Given the description of an element on the screen output the (x, y) to click on. 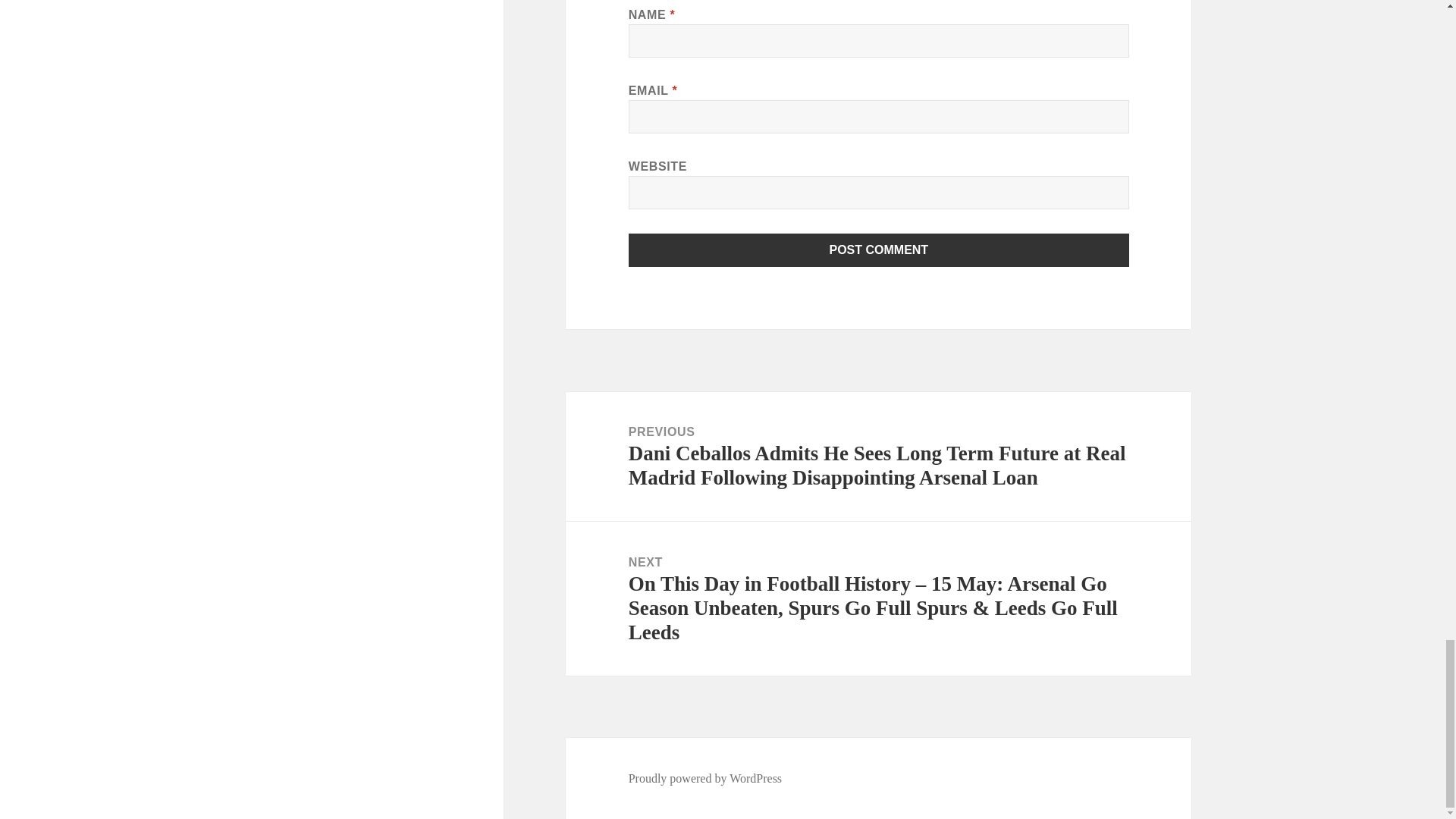
Post Comment (878, 249)
Post Comment (878, 249)
Proudly powered by WordPress (704, 778)
